Given the description of an element on the screen output the (x, y) to click on. 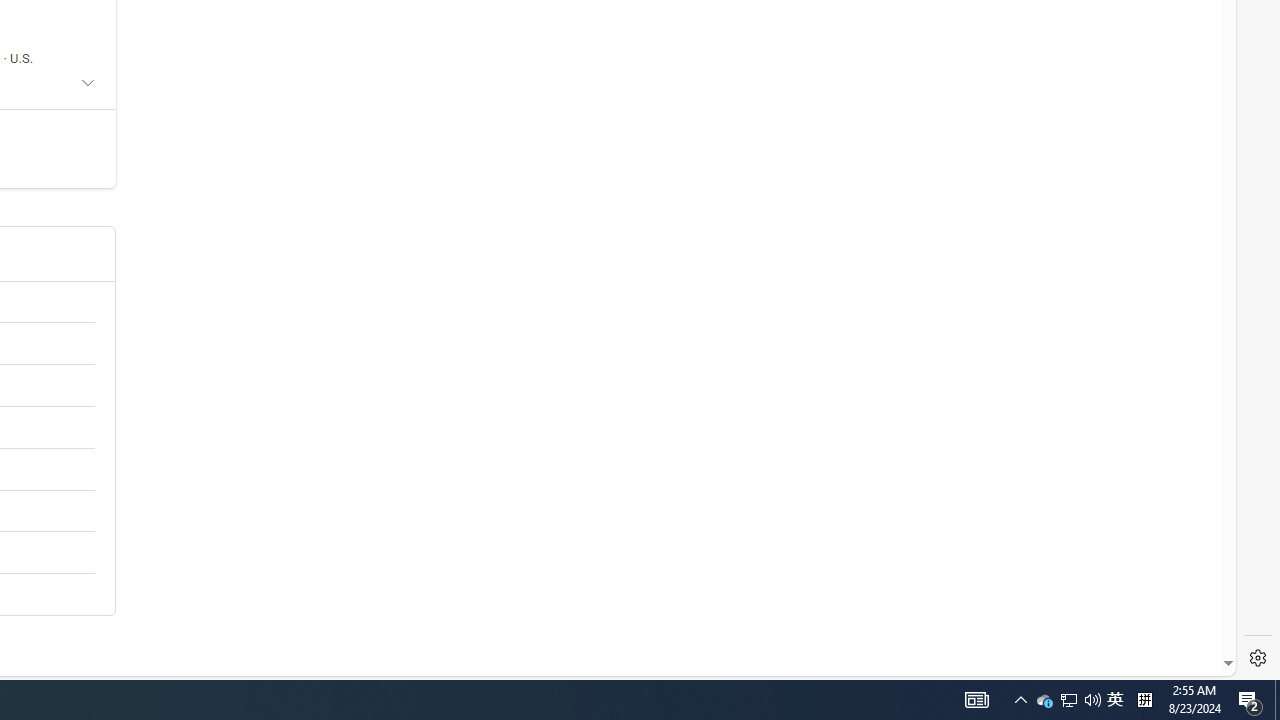
Search more (1182, 604)
AutomationID: mfa_root (1153, 603)
